Given the description of an element on the screen output the (x, y) to click on. 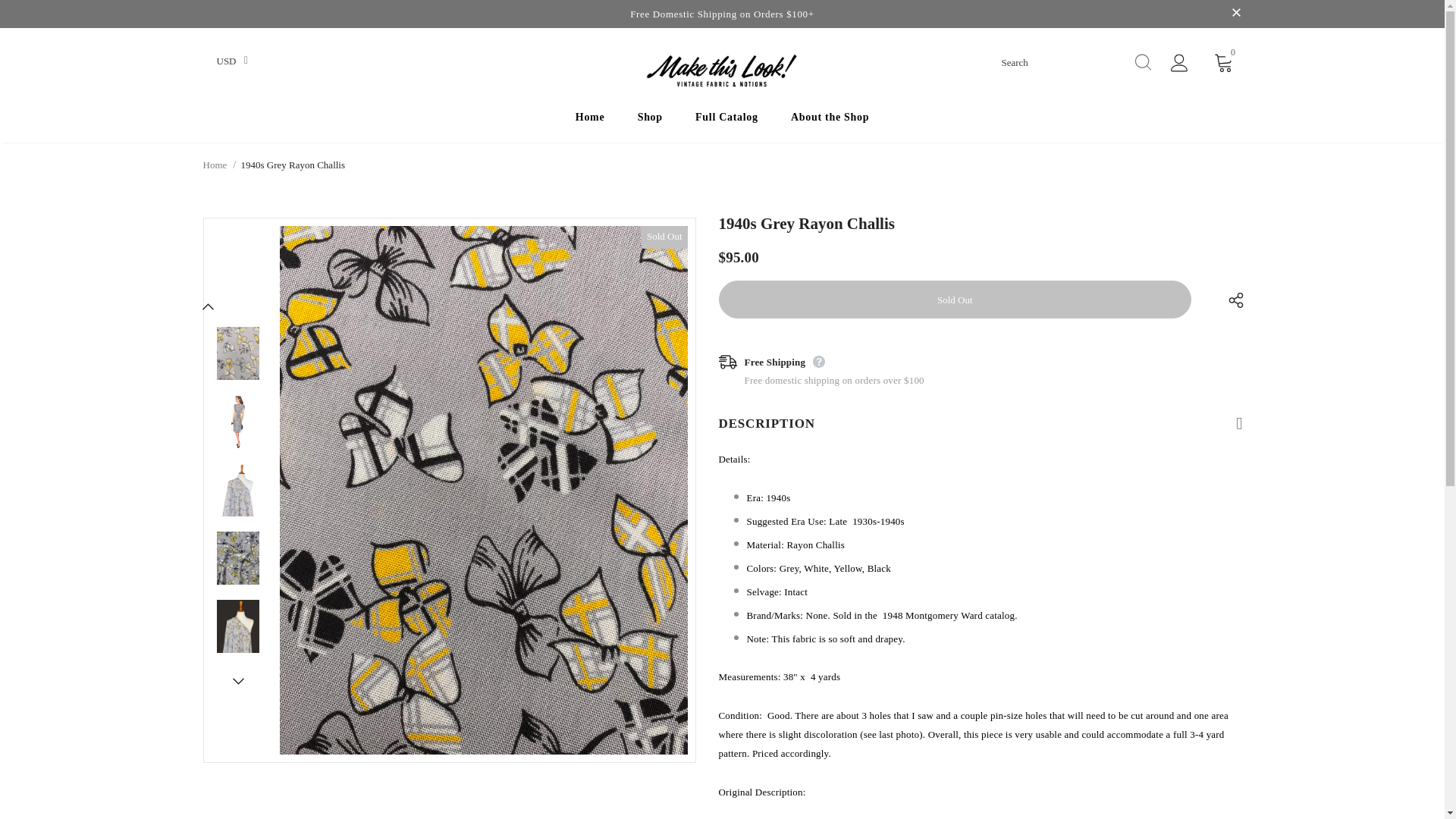
user (1179, 63)
close (1235, 13)
Cart Icon (1223, 62)
Logo (721, 71)
user (1179, 65)
Shop (649, 119)
Home (590, 119)
Full Catalog (726, 119)
0 (1223, 62)
Home (215, 164)
Sold Out (955, 299)
About the Shop (829, 119)
